Given the description of an element on the screen output the (x, y) to click on. 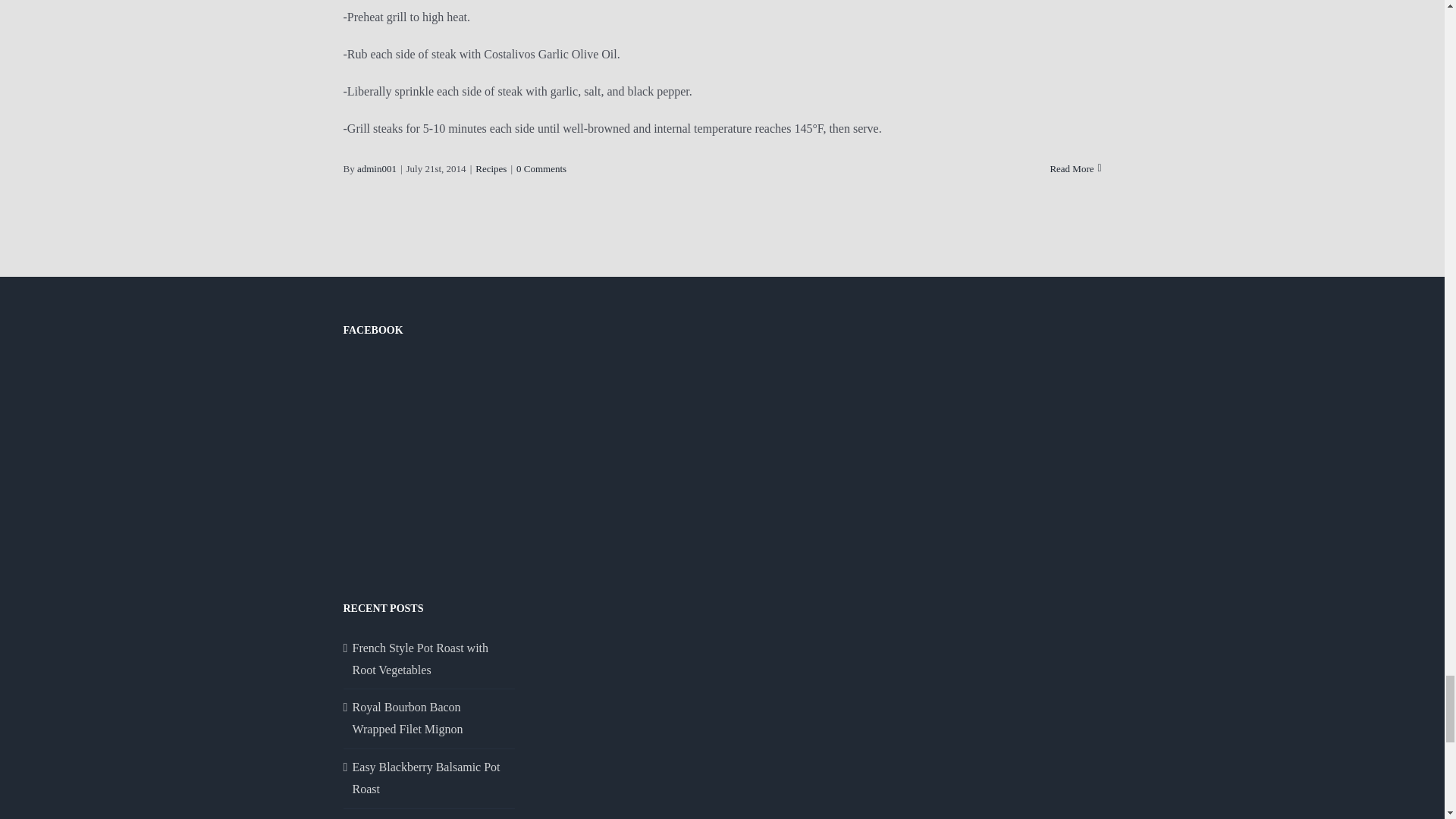
Posts by admin001 (376, 168)
